Given the description of an element on the screen output the (x, y) to click on. 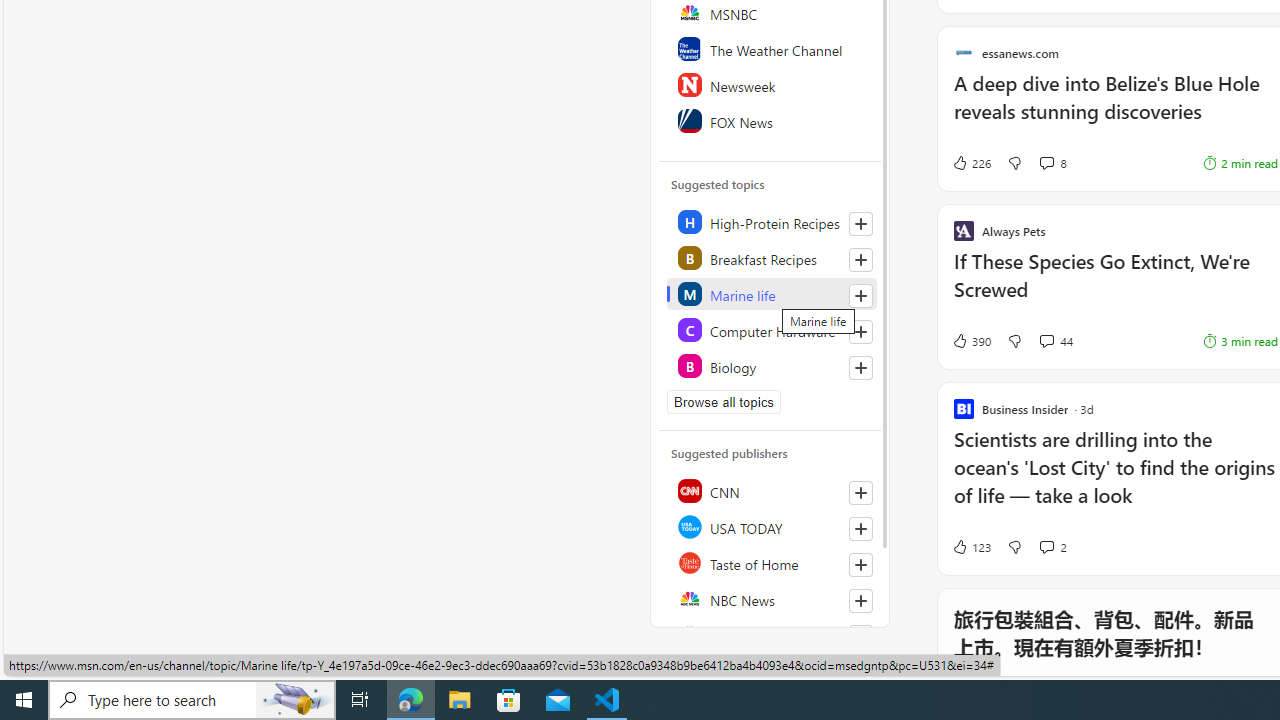
123 Like (970, 546)
